Given the description of an element on the screen output the (x, y) to click on. 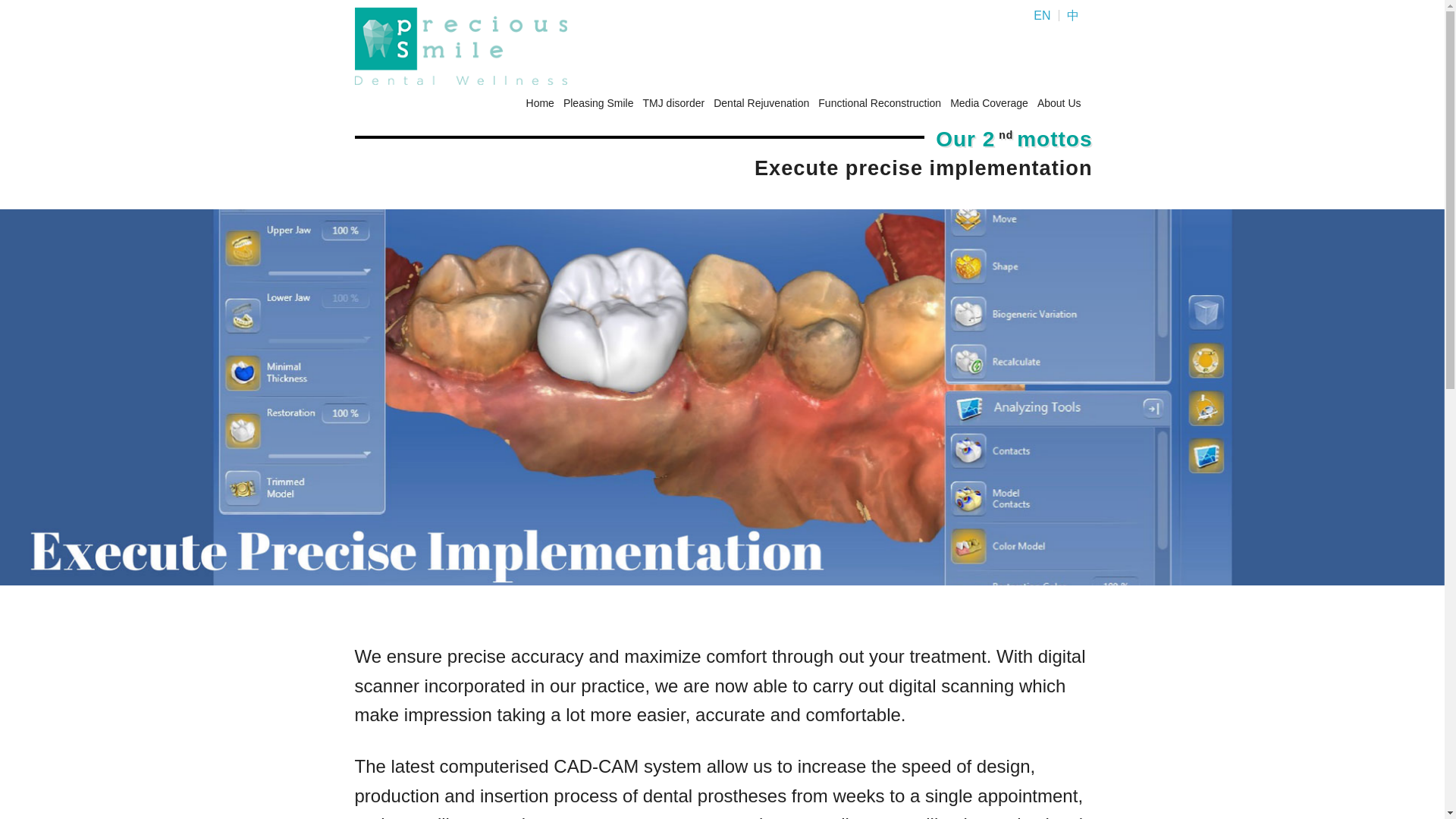
EN (1045, 15)
Dental Rejuvenation (759, 101)
Pleasing Smile (597, 101)
About Us (1057, 101)
TMJ disorder (673, 101)
Functional Reconstruction (878, 101)
Functional Reconstruction (878, 101)
TMJ disorder (673, 101)
Pleasing Smile (597, 101)
About Us (1057, 101)
Home (538, 101)
Dental Rejuvenation (759, 101)
Media Coverage (988, 101)
Home (538, 101)
Media Coverage (988, 101)
